Given the description of an element on the screen output the (x, y) to click on. 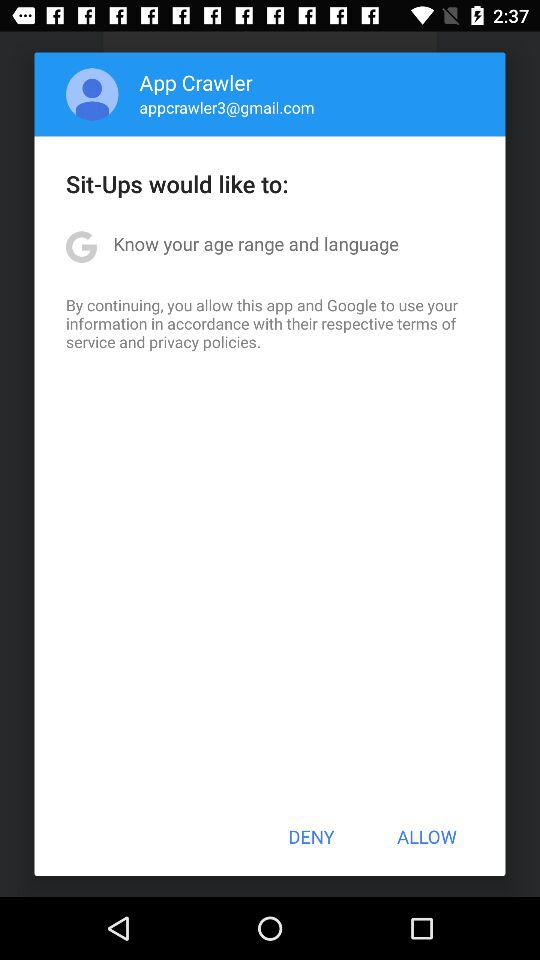
tap icon above sit ups would (226, 107)
